Given the description of an element on the screen output the (x, y) to click on. 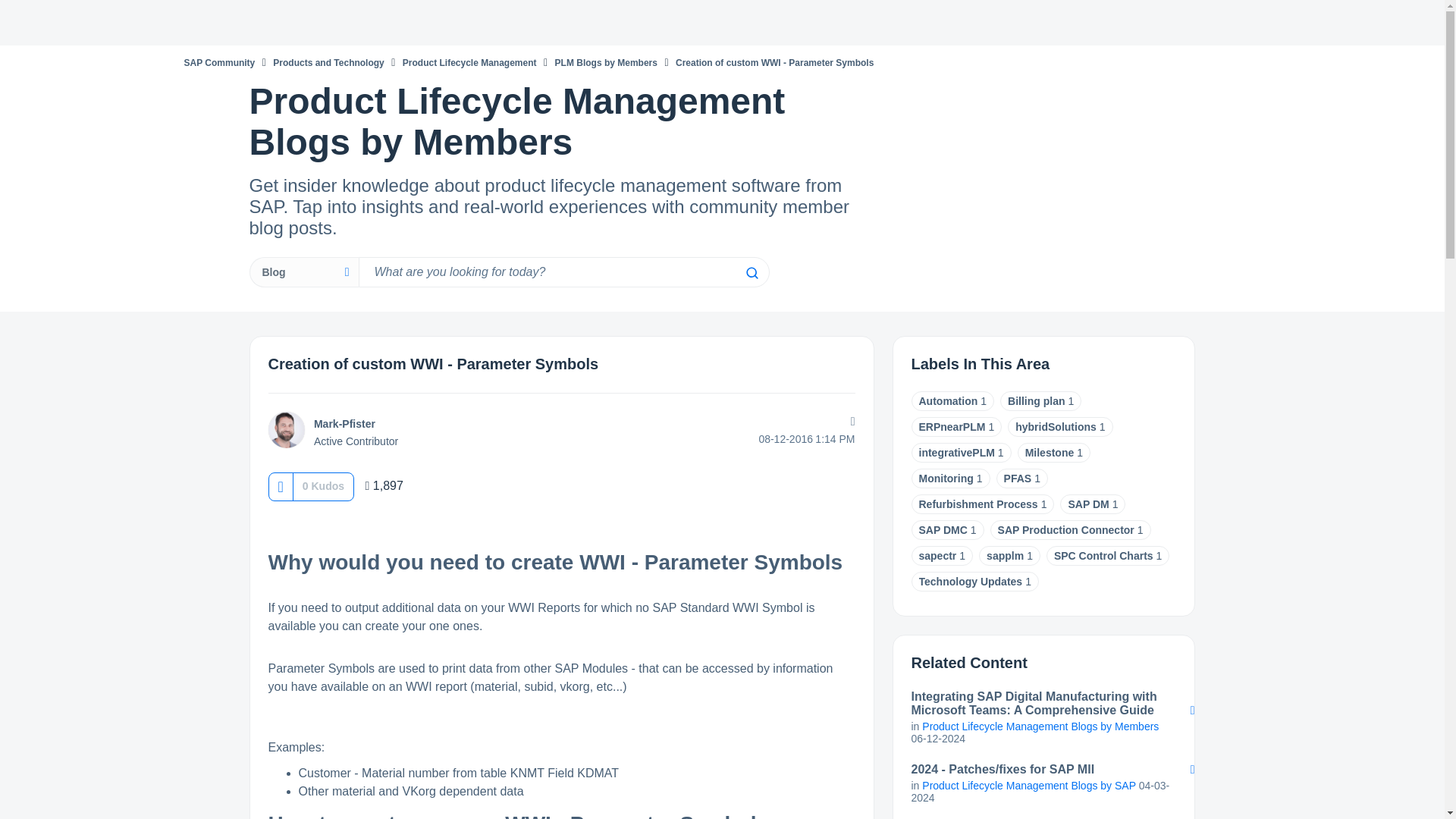
Products and Technology (328, 62)
PLM Blogs by Members (606, 62)
Mark-Pfister (285, 429)
Search Granularity (303, 272)
The total number of kudos this post has received. (323, 485)
Search (750, 272)
Creation of custom WWI - Parameter Symbols (432, 363)
SAP Community (218, 62)
Search (750, 272)
Click here to give kudos to this post. (279, 486)
